Given the description of an element on the screen output the (x, y) to click on. 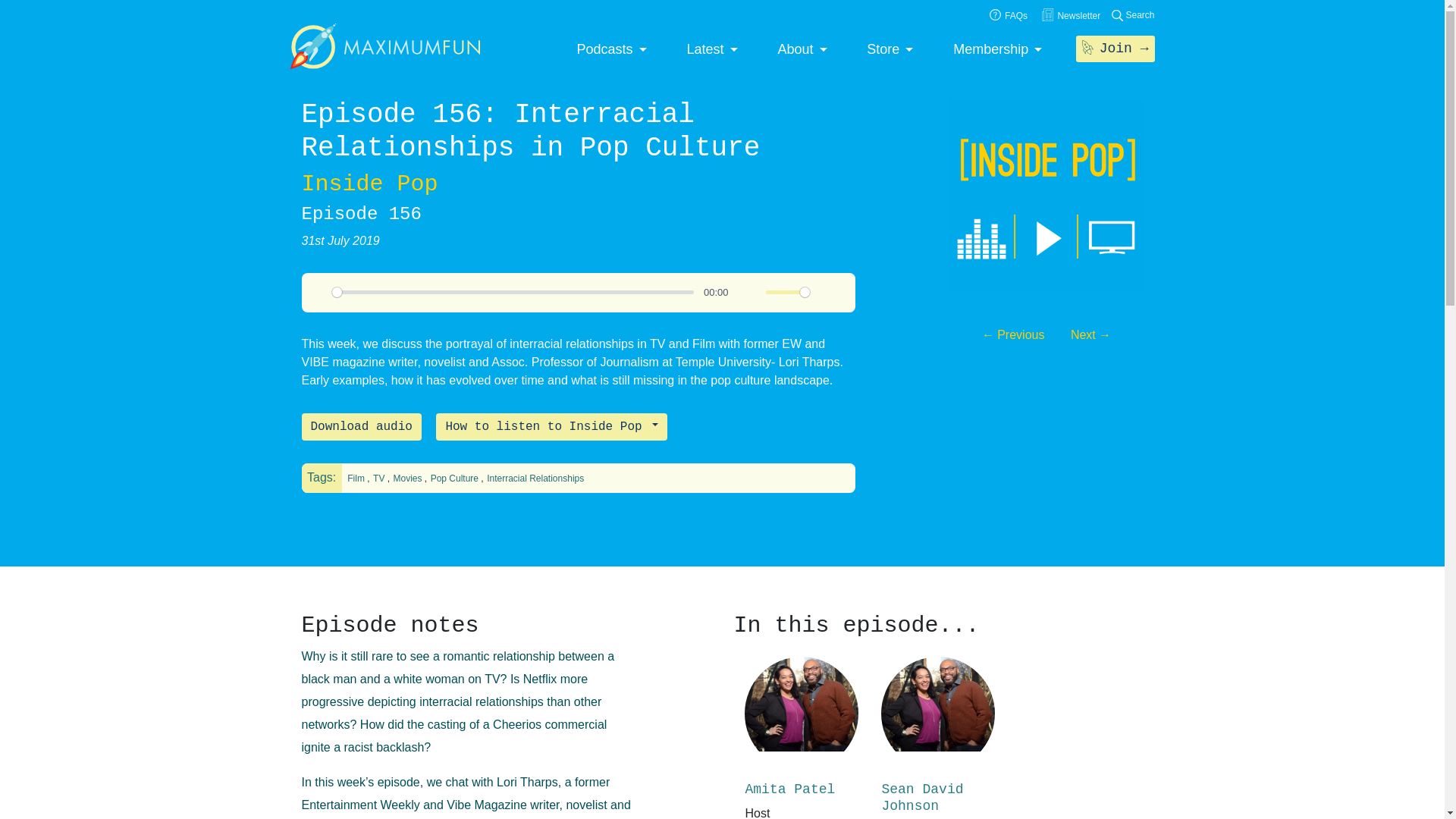
Our shows are made by hand for you (611, 49)
Latest (710, 49)
About (801, 49)
Join (1114, 49)
Search (1133, 14)
Latest (710, 49)
About (801, 49)
Store (889, 49)
Membership (997, 49)
0 (512, 292)
